Given the description of an element on the screen output the (x, y) to click on. 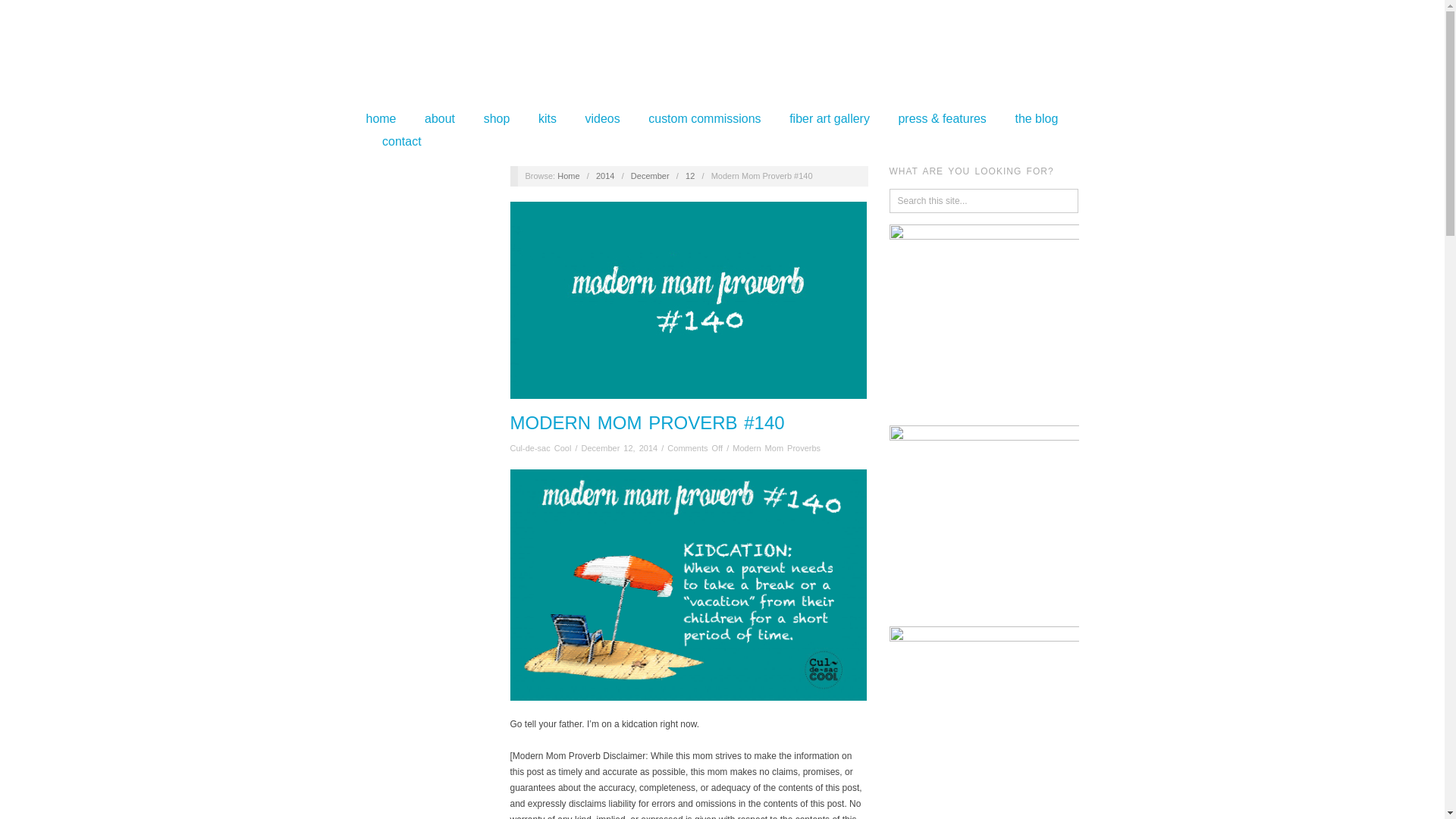
contact (401, 141)
Home (568, 175)
2014 (604, 175)
fiber art gallery (829, 119)
custom commissions (703, 119)
Posts by Cul-de-sac Cool (541, 447)
Search this site... (983, 200)
home (380, 119)
Modern Mom Proverbs (776, 447)
the blog (1036, 119)
12 (689, 175)
Search this site... (983, 200)
shop (497, 119)
December 2014 (649, 175)
December 12, 2014 (619, 447)
